Given the description of an element on the screen output the (x, y) to click on. 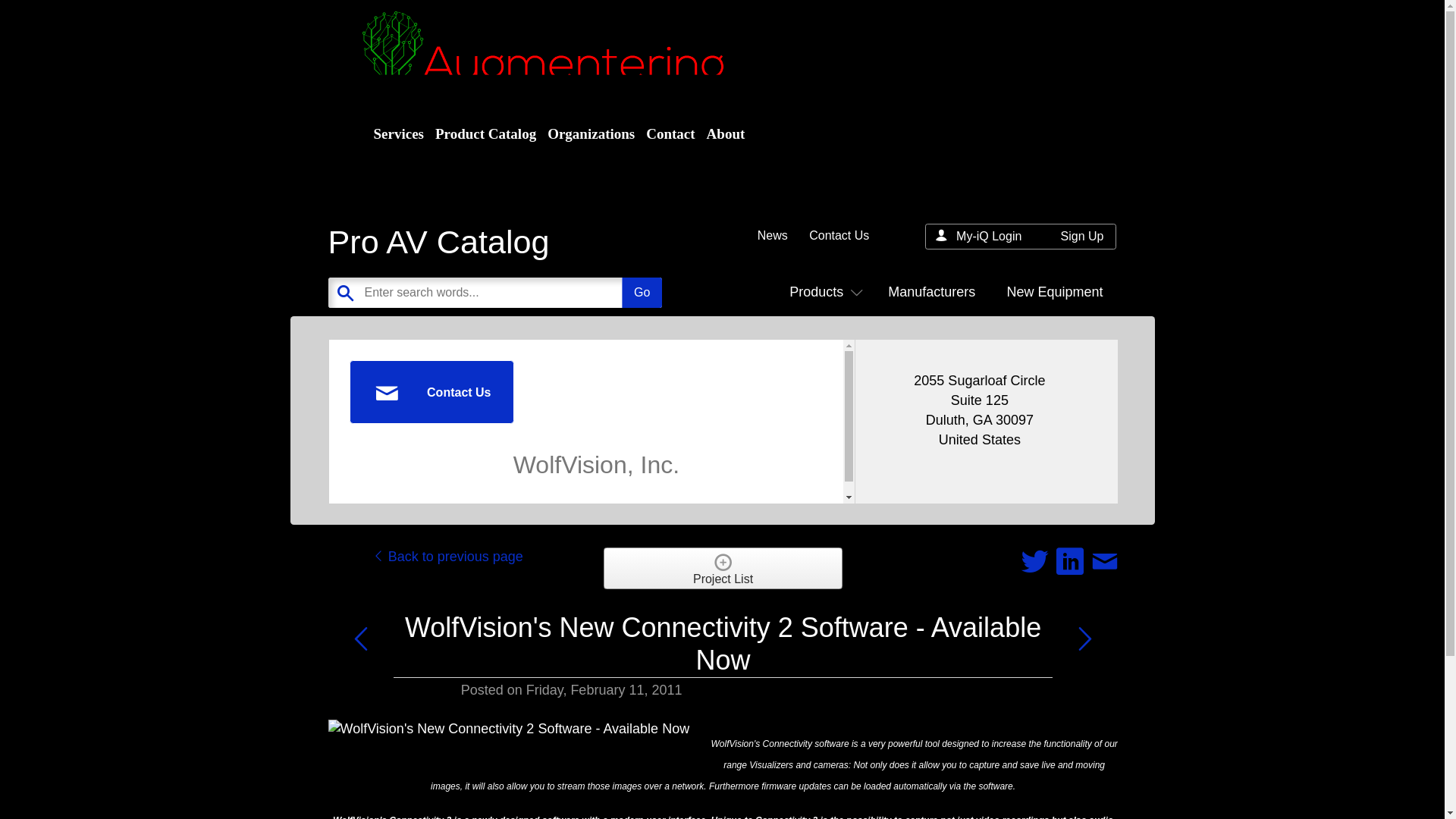
Product Catalog (484, 133)
Organizations (589, 133)
Contact (668, 133)
Services (395, 133)
Enter search words... (531, 292)
Go (641, 292)
About (723, 133)
Go (641, 292)
